Given the description of an element on the screen output the (x, y) to click on. 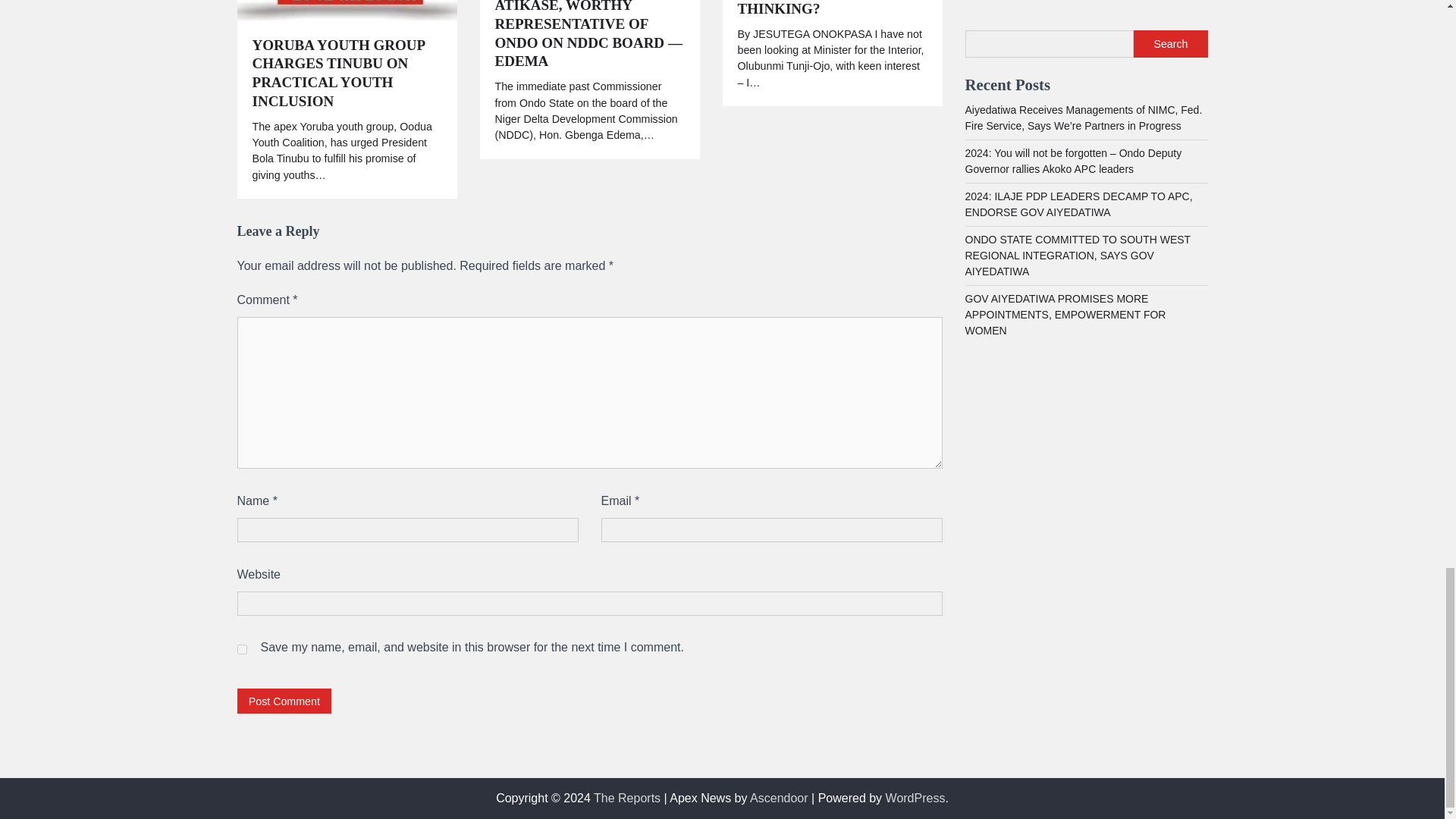
Post Comment (283, 700)
The Reports (627, 797)
WHAT IS TUNJI-OJO THINKING? (831, 9)
Post Comment (283, 700)
yes (240, 649)
